Given the description of an element on the screen output the (x, y) to click on. 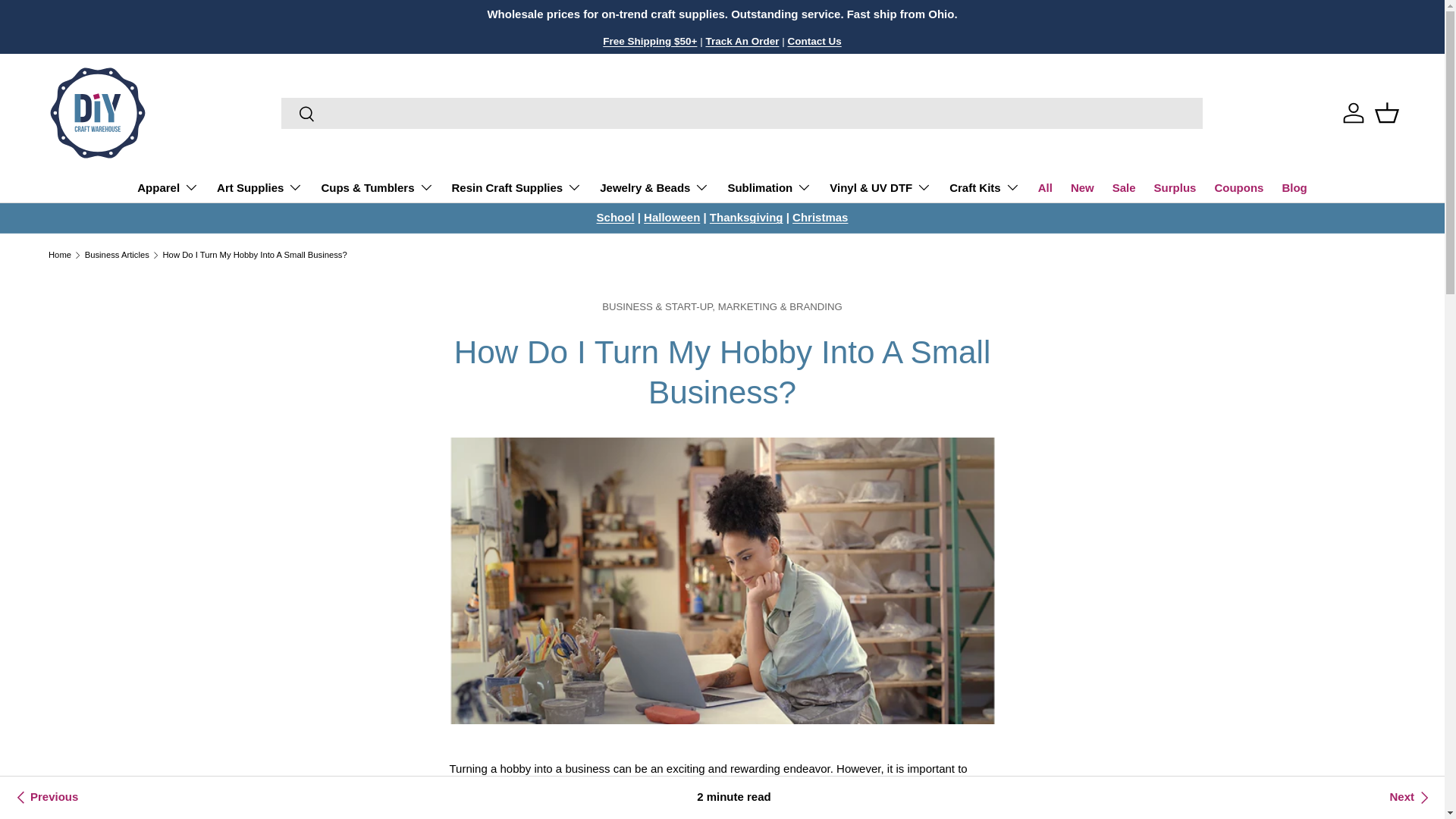
Protecting Customer Confidential Information (44, 797)
Contact Us (814, 40)
Basket (1386, 112)
Track An Order (741, 40)
Skip to content (68, 21)
Spooky Creations: Halloween Craft Supplies (671, 216)
Search (298, 114)
Contact Us (814, 40)
Log in (1353, 112)
